Given the description of an element on the screen output the (x, y) to click on. 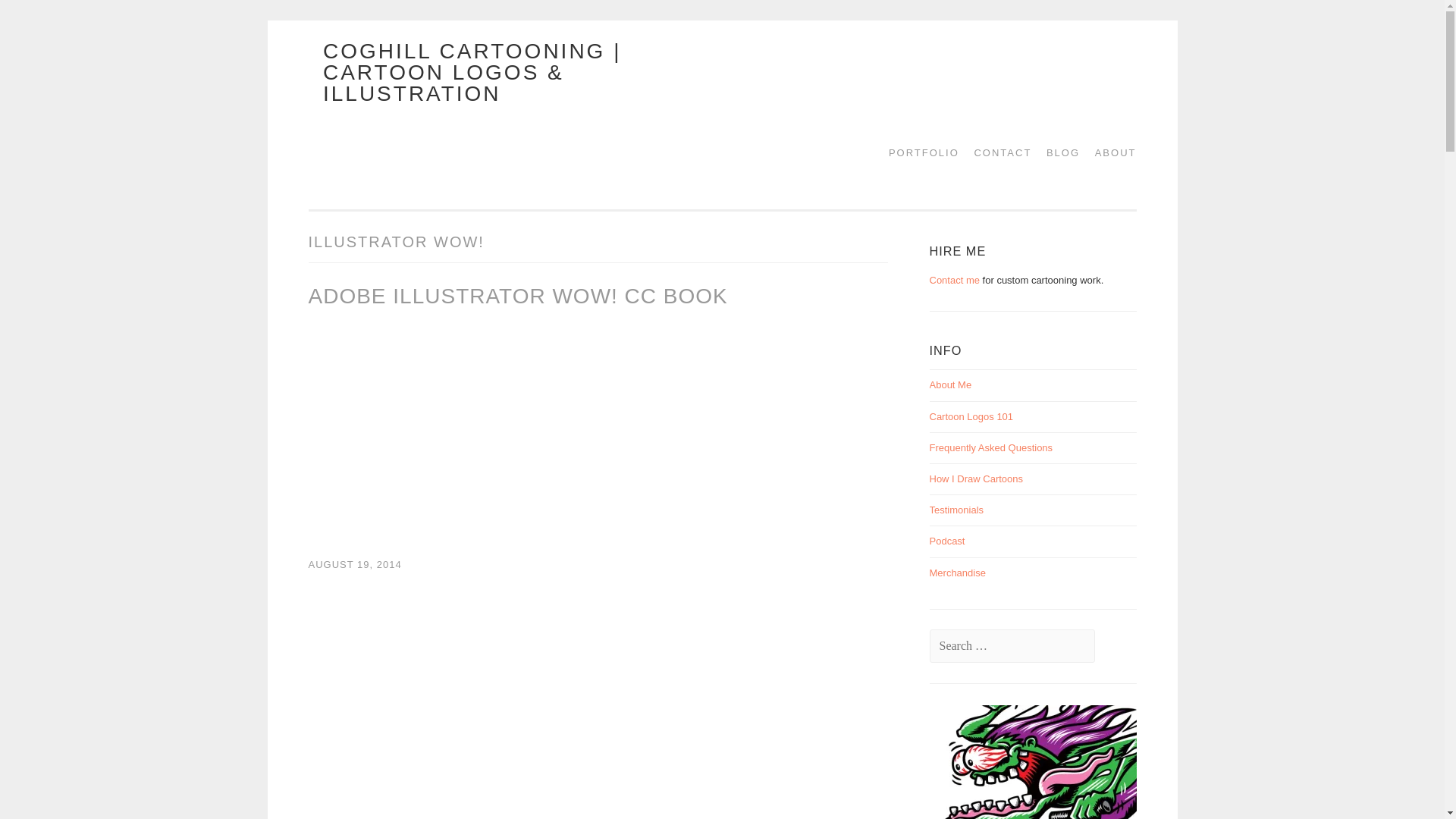
CONTACT (996, 152)
PORTFOLIO (918, 152)
ABOUT (1110, 152)
Contact me (954, 279)
fat-tire-speed-freak-coghill (1074, 762)
BLOG (1057, 152)
AUGUST 19, 2014 (354, 564)
ADOBE ILLUSTRATOR WOW! CC BOOK (516, 295)
About Me (951, 384)
